Given the description of an element on the screen output the (x, y) to click on. 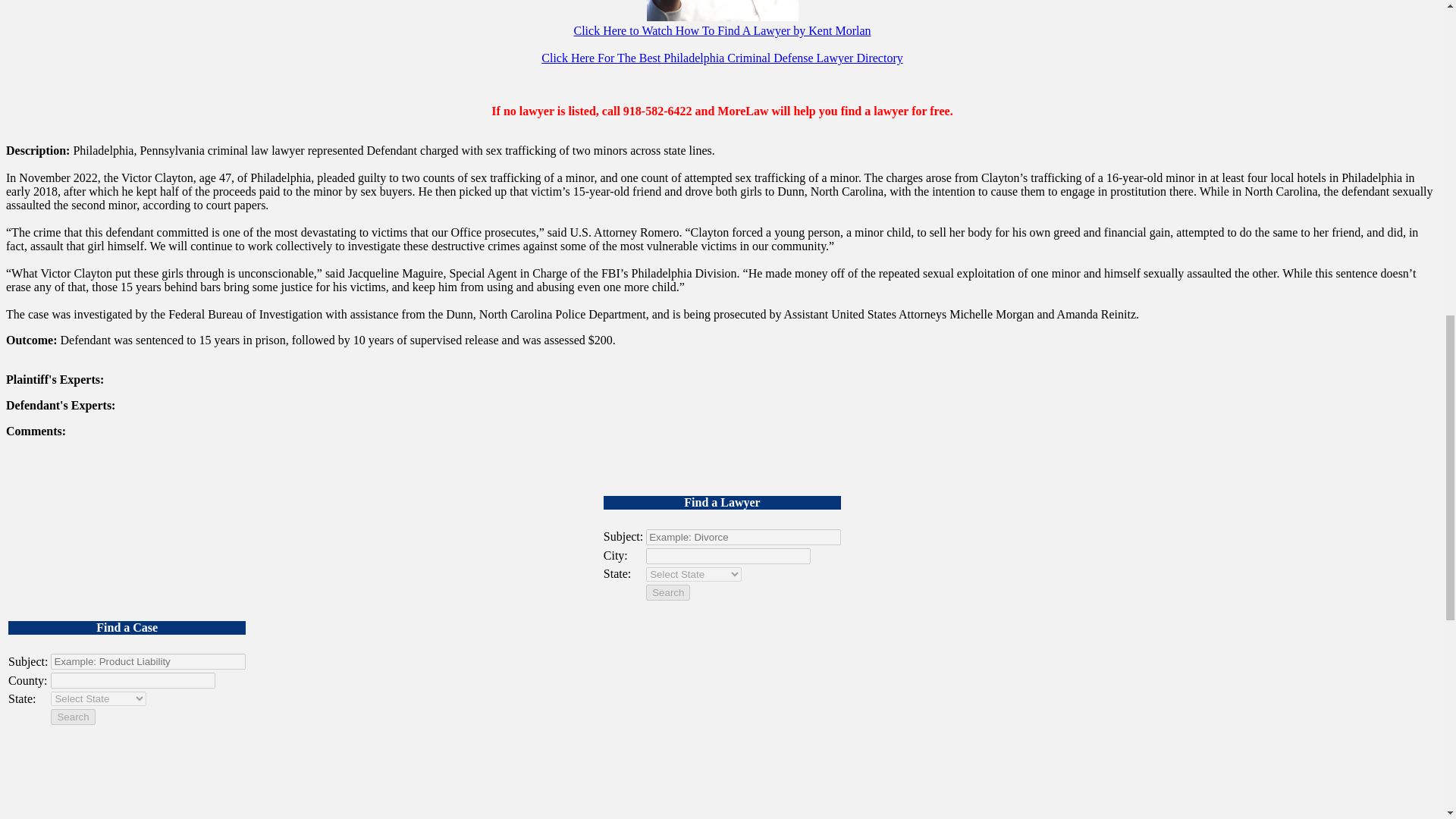
Click Here to Watch How To Find A Lawyer by Kent Morlan (721, 30)
Search (72, 716)
Search (668, 592)
